Given the description of an element on the screen output the (x, y) to click on. 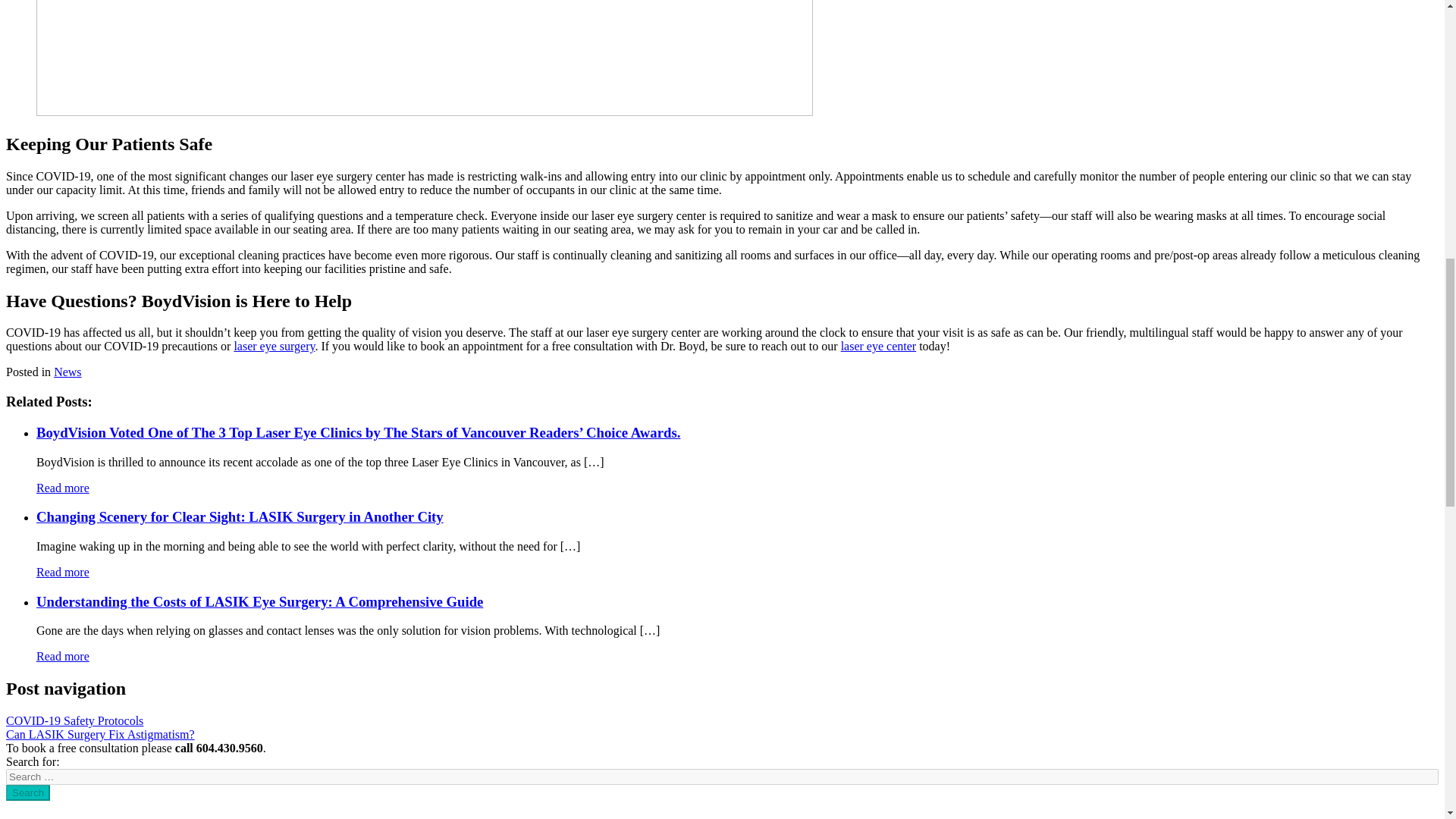
Search (27, 792)
Search (27, 792)
COVID-19 Safety Protocols (73, 720)
Read more (62, 487)
laser eye surgery (273, 345)
Read more (62, 656)
